Given the description of an element on the screen output the (x, y) to click on. 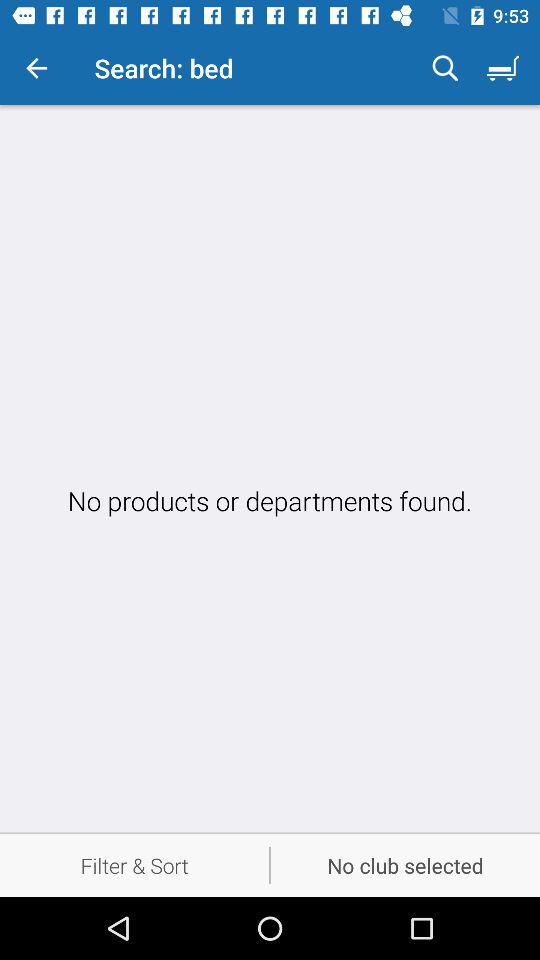
open item next to the search: bed (445, 68)
